Given the description of an element on the screen output the (x, y) to click on. 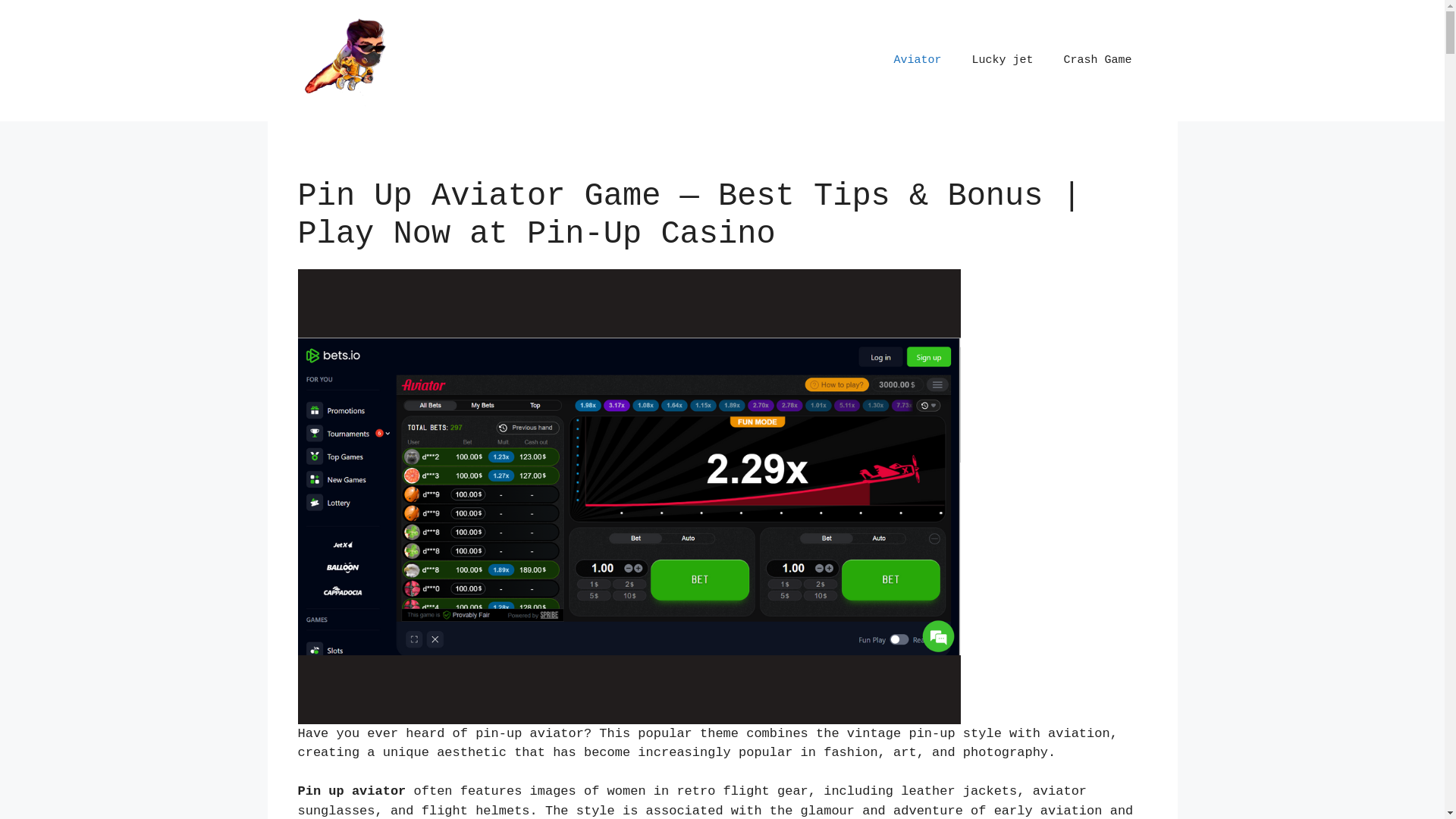
Lucky jet Element type: text (1002, 60)
Aviator Element type: text (917, 60)
Crash Game Element type: text (1097, 60)
